Given the description of an element on the screen output the (x, y) to click on. 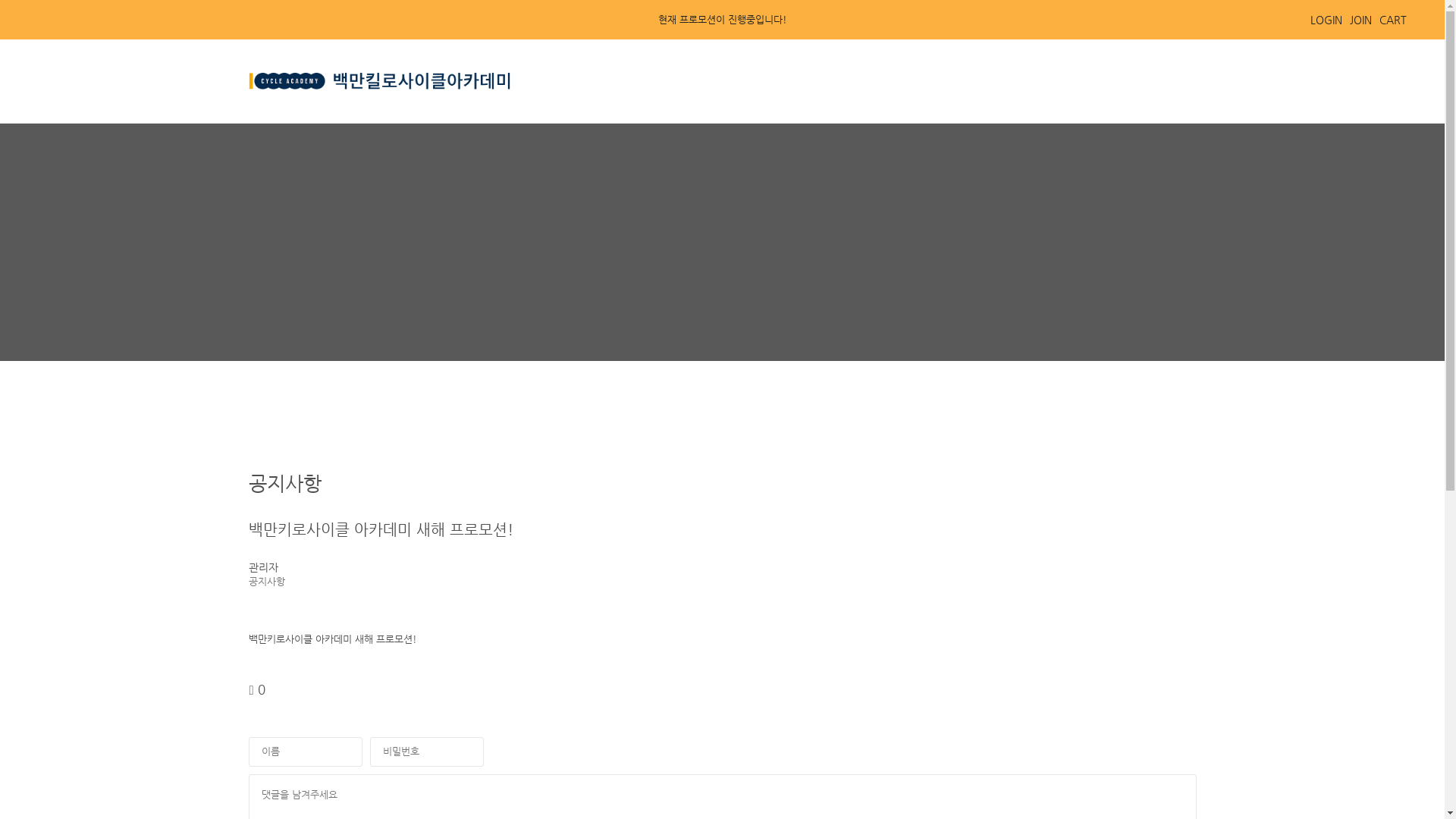
JOIN Element type: text (1360, 19)
LOGIN Element type: text (1326, 19)
nick Element type: hover (305, 751)
CART Element type: text (1392, 19)
password Element type: hover (426, 751)
